Given the description of an element on the screen output the (x, y) to click on. 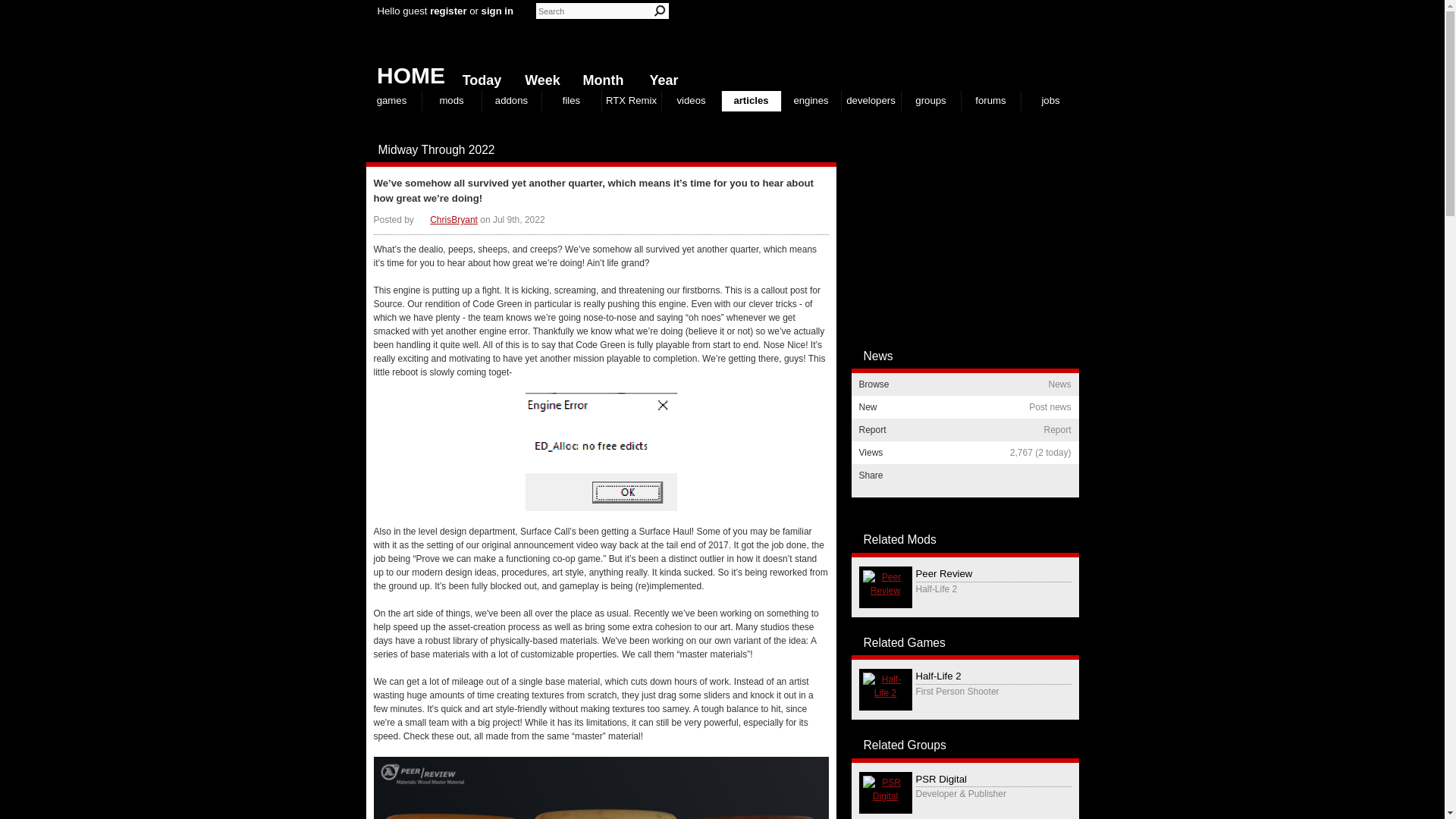
Search ModDB (660, 10)
RSS (828, 150)
Search (660, 10)
mods (451, 100)
New this month (599, 76)
Post news (797, 150)
Report (813, 150)
HOME (405, 71)
New this year (660, 76)
ModDB Home (965, 45)
